Given the description of an element on the screen output the (x, y) to click on. 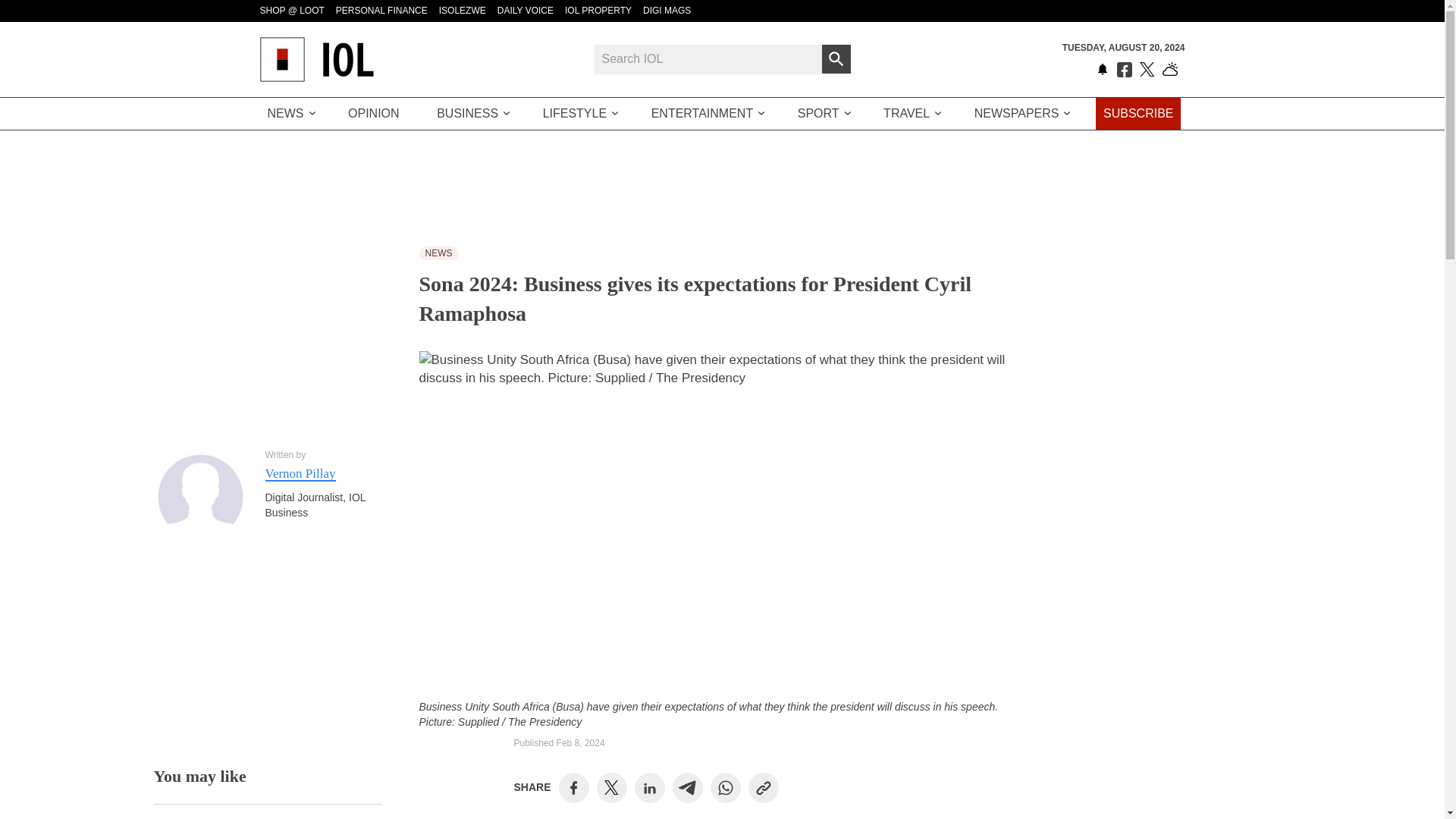
Share on LinkedIn (648, 787)
Share on Twitter (611, 787)
Copy to Clipboard (763, 787)
Share on Telegram (686, 787)
Like us on Facebook (1124, 69)
Follow us on Twitter (1147, 69)
Share on Facebook (573, 787)
Share on WhatsApp (725, 787)
